Given the description of an element on the screen output the (x, y) to click on. 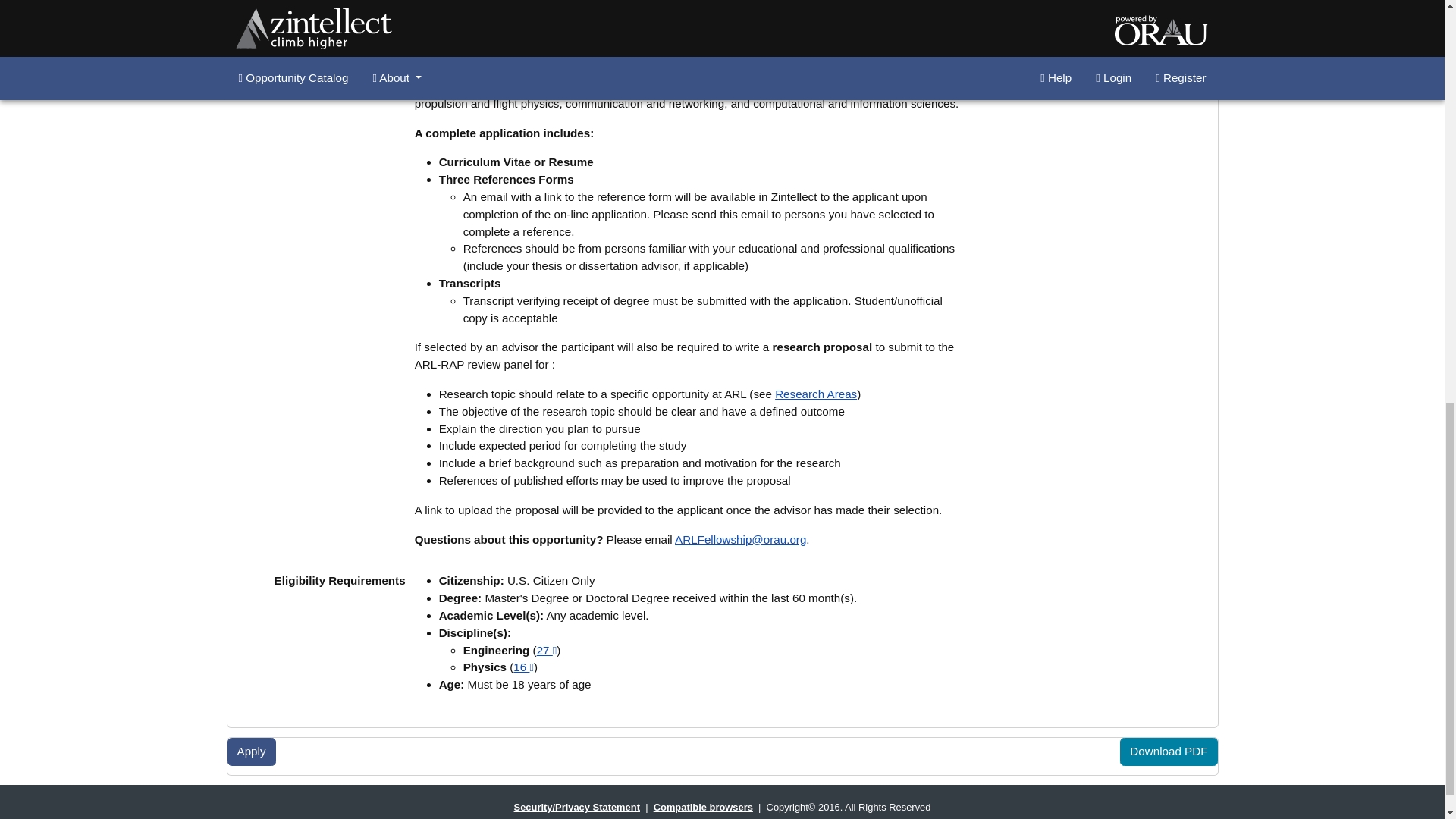
Download PDF (1168, 751)
16 (523, 666)
27 (547, 649)
Compatible browsers (702, 807)
Research Areas (815, 393)
Apply (251, 751)
